Given the description of an element on the screen output the (x, y) to click on. 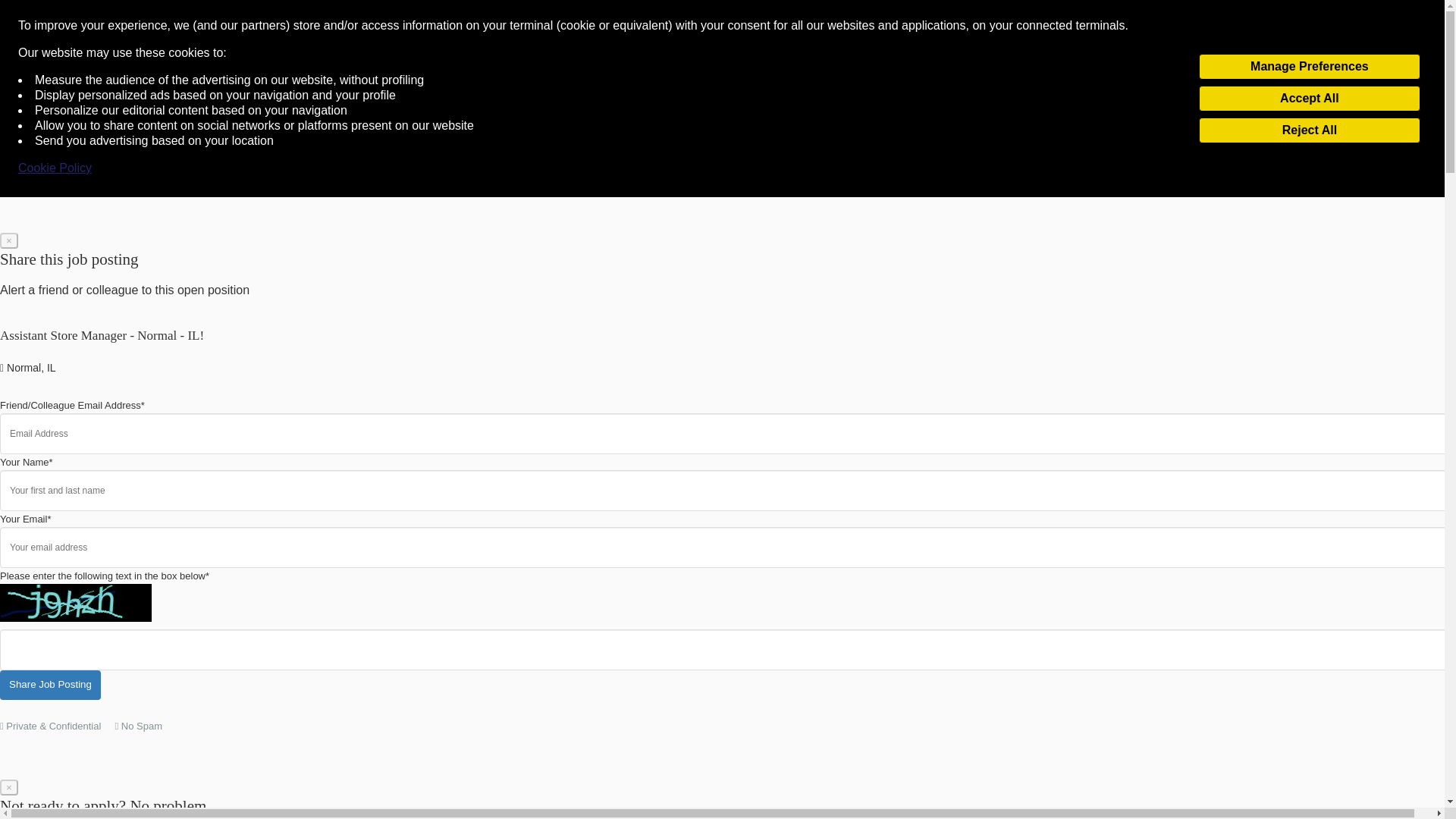
Reject All (1309, 130)
Cookie Policy (54, 168)
captcha (75, 602)
Manage Preferences (1309, 66)
Share Job Posting (50, 685)
Accept All (1309, 98)
